Given the description of an element on the screen output the (x, y) to click on. 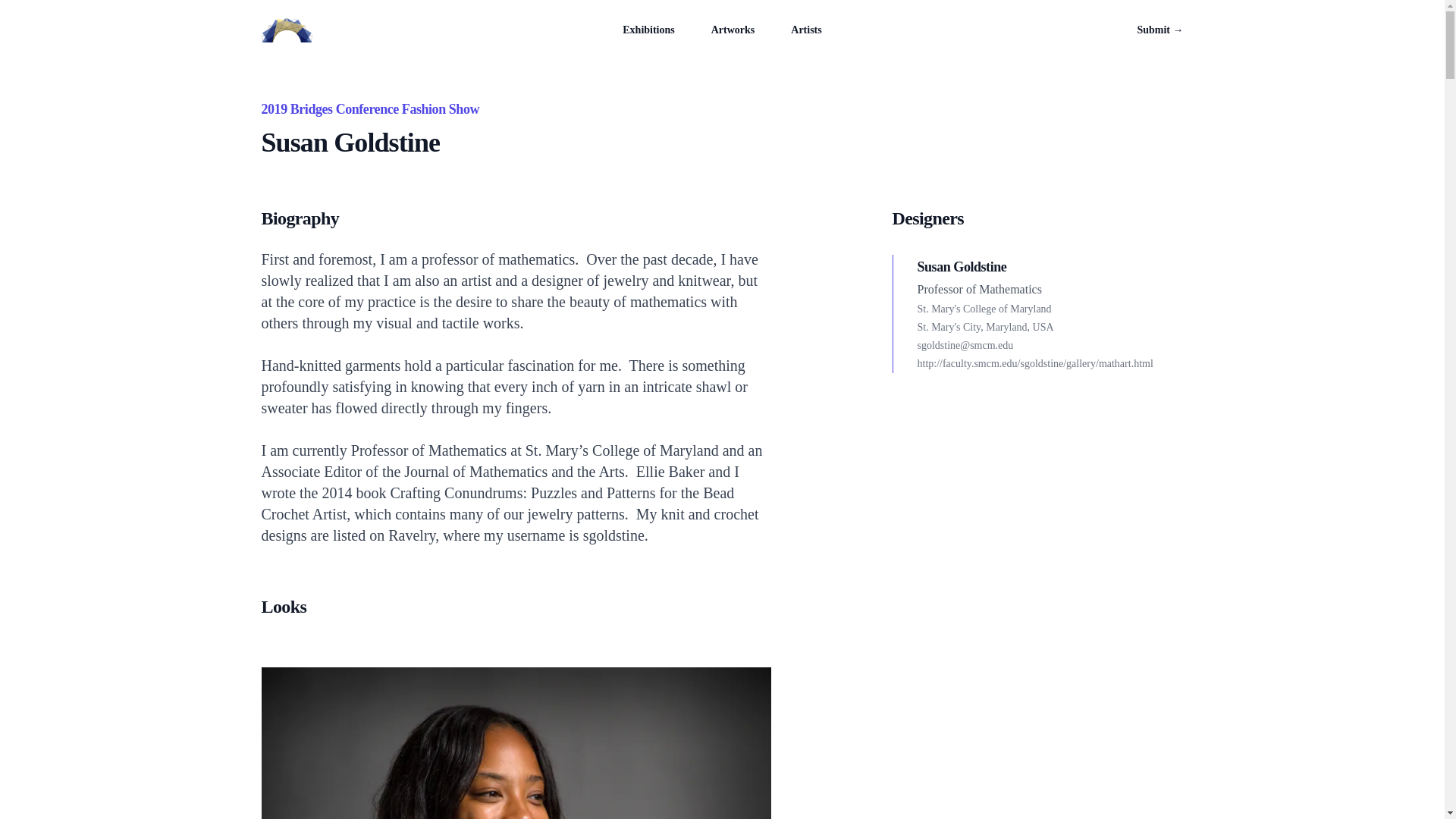
Mathematical Art Galleries (285, 29)
Artists (805, 30)
Exhibitions (648, 30)
2019 Bridges Conference Fashion Show (369, 109)
Artworks (733, 30)
